Given the description of an element on the screen output the (x, y) to click on. 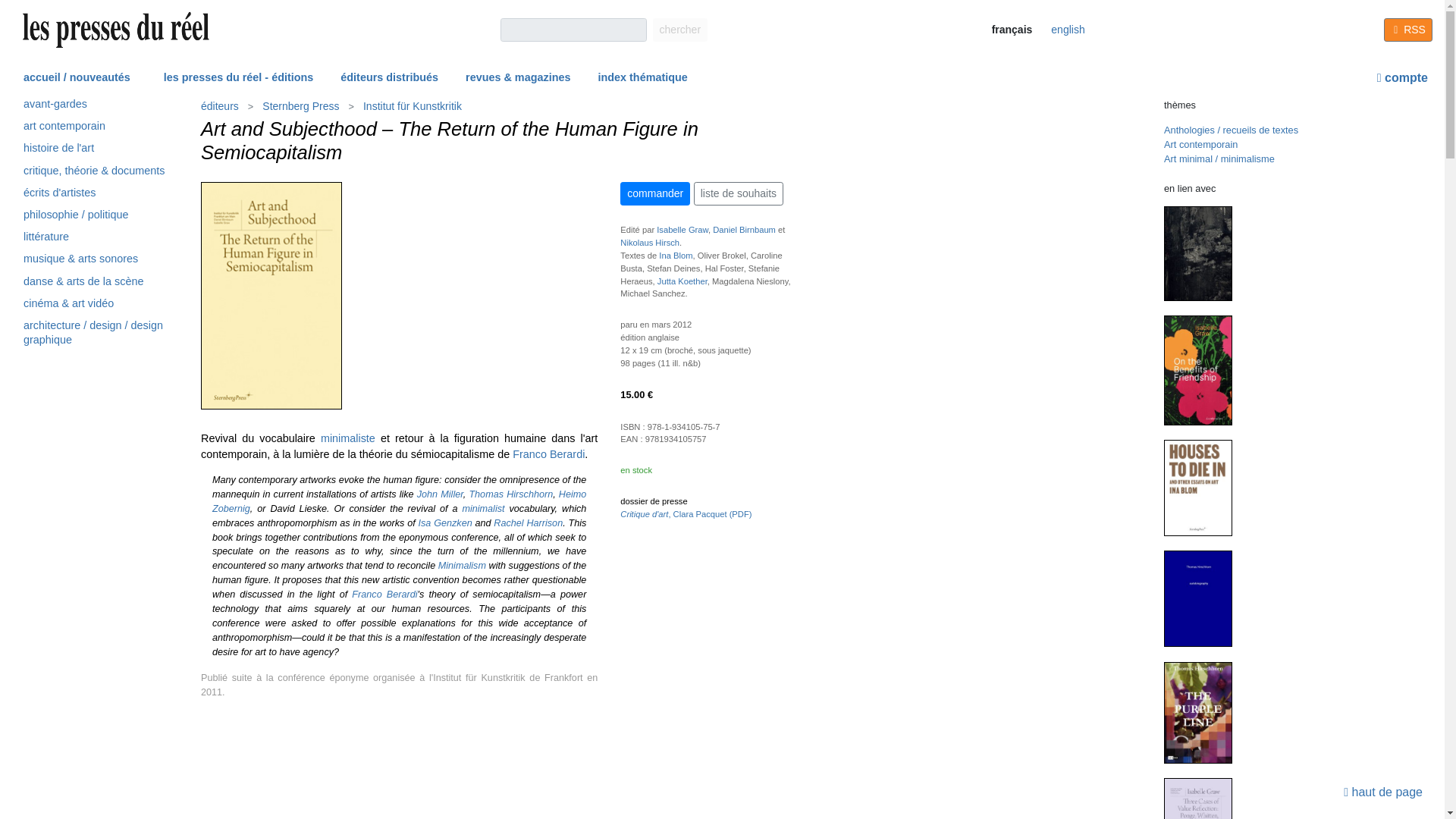
Franco Berardi (384, 593)
Sternberg Press (300, 106)
avant-gardes (94, 106)
english (1066, 29)
minimalist (482, 508)
Isabelle Graw (681, 229)
 compte (1402, 77)
Isa Genzken (445, 522)
liste de souhaits (738, 193)
commander (655, 193)
minimaliste (347, 438)
2 lettres minimum (573, 29)
Thomas Hirschhorn (510, 493)
John Miller (439, 493)
histoire de l'art (94, 150)
